Given the description of an element on the screen output the (x, y) to click on. 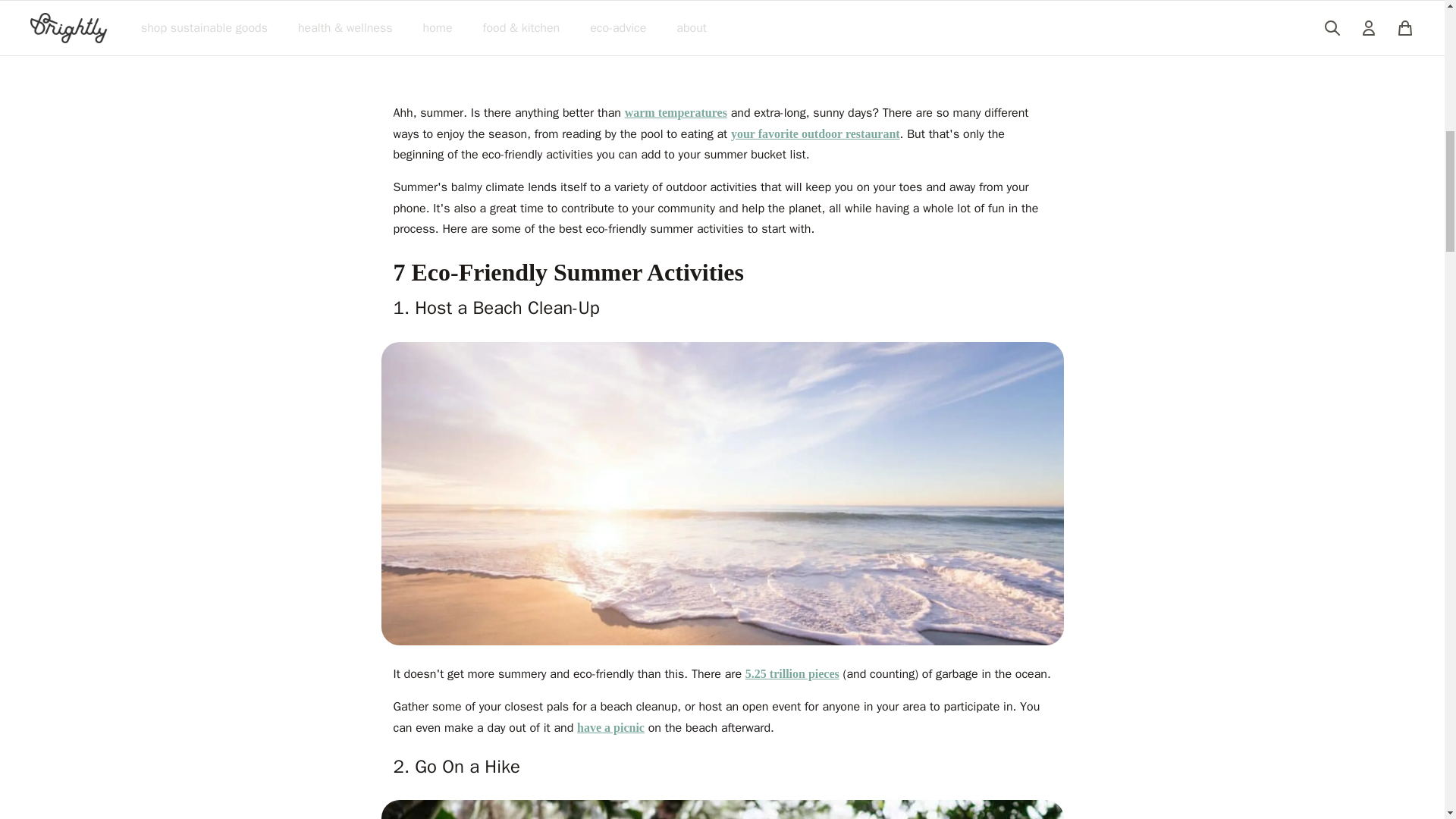
your favorite outdoor restaurant (814, 133)
warm temperatures (675, 112)
5.25 trillion pieces (792, 673)
Copy link (910, 23)
